Given the description of an element on the screen output the (x, y) to click on. 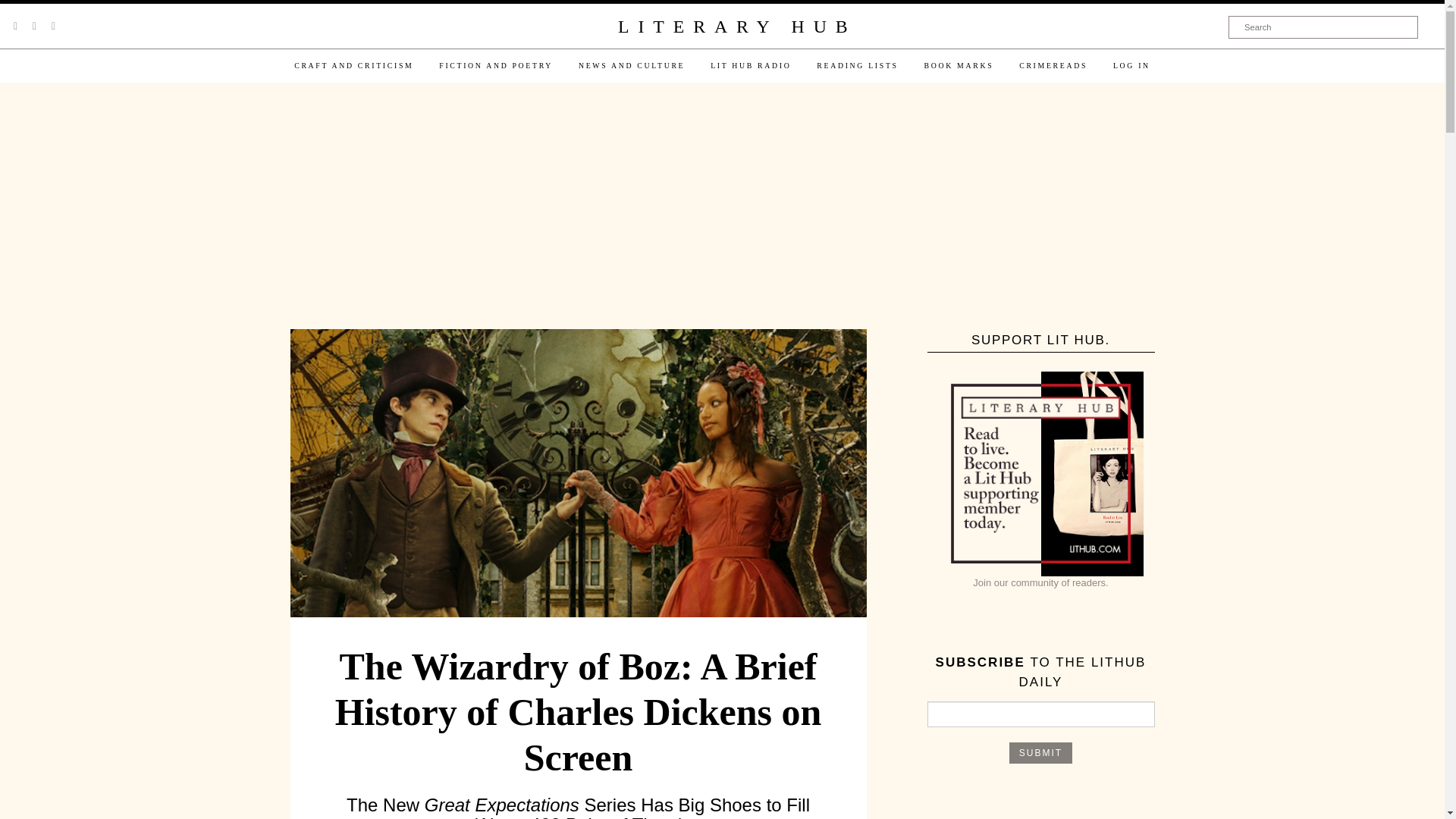
Search (1323, 26)
CRAFT AND CRITICISM (353, 65)
FICTION AND POETRY (496, 65)
NEWS AND CULTURE (631, 65)
LITERARY HUB (736, 26)
